Given the description of an element on the screen output the (x, y) to click on. 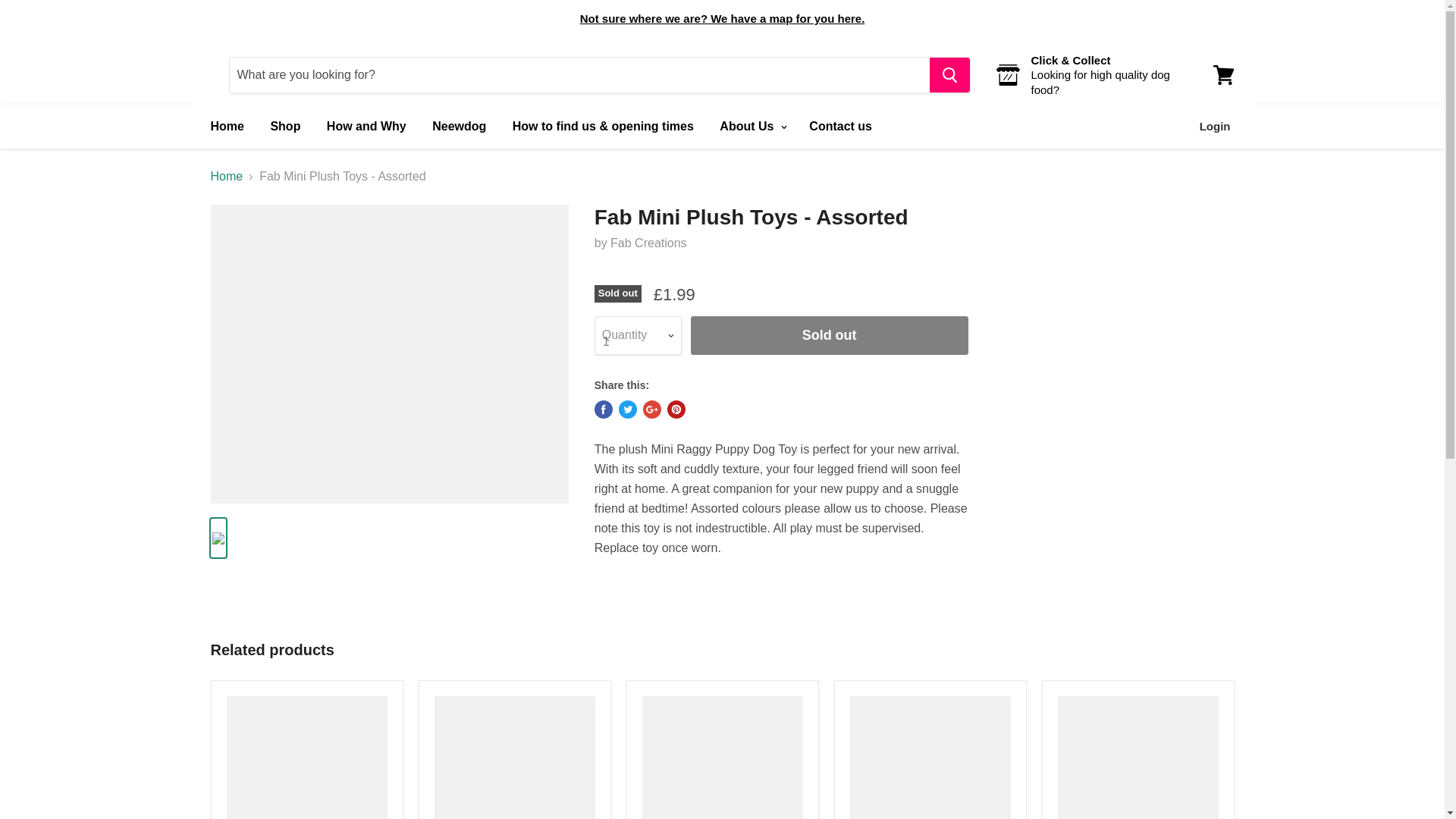
Home (226, 126)
Share on Facebook (603, 409)
Sold out (829, 335)
Contact us (840, 126)
Not sure where we are? We have a map for you here. (721, 18)
About Us (750, 126)
Neewdog (458, 126)
Home (227, 176)
Shop (285, 126)
How and Why (366, 126)
View cart (1223, 74)
Login (1215, 126)
Tweet on Twitter (627, 409)
